Given the description of an element on the screen output the (x, y) to click on. 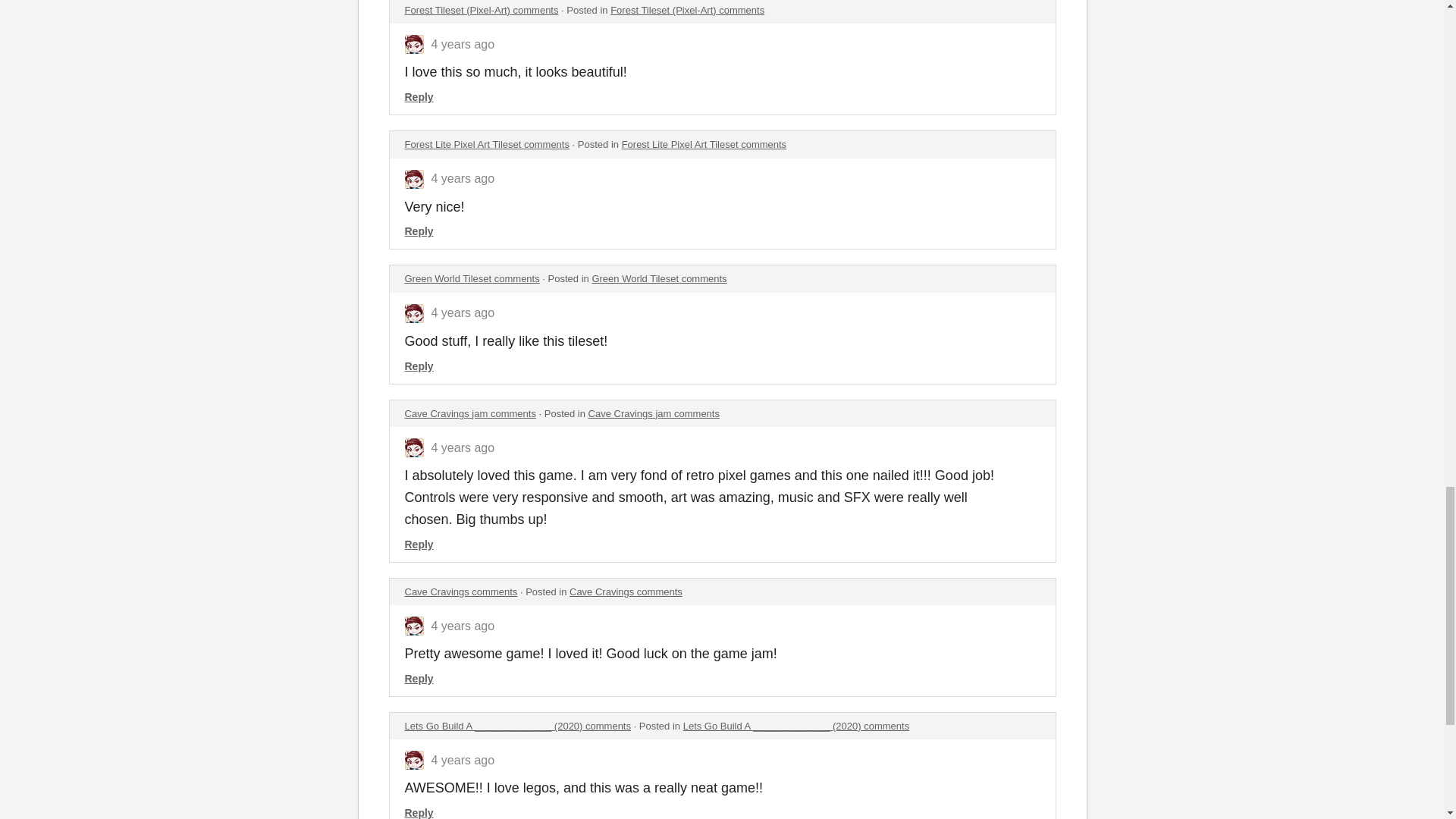
2020-04-11 01:56:20 (462, 178)
2020-04-11 01:43:42 (462, 312)
2020-04-10 05:38:50 (462, 625)
2020-04-10 05:41:02 (462, 447)
2020-04-11 01:57:00 (462, 43)
2020-04-10 03:31:12 (462, 759)
